Given the description of an element on the screen output the (x, y) to click on. 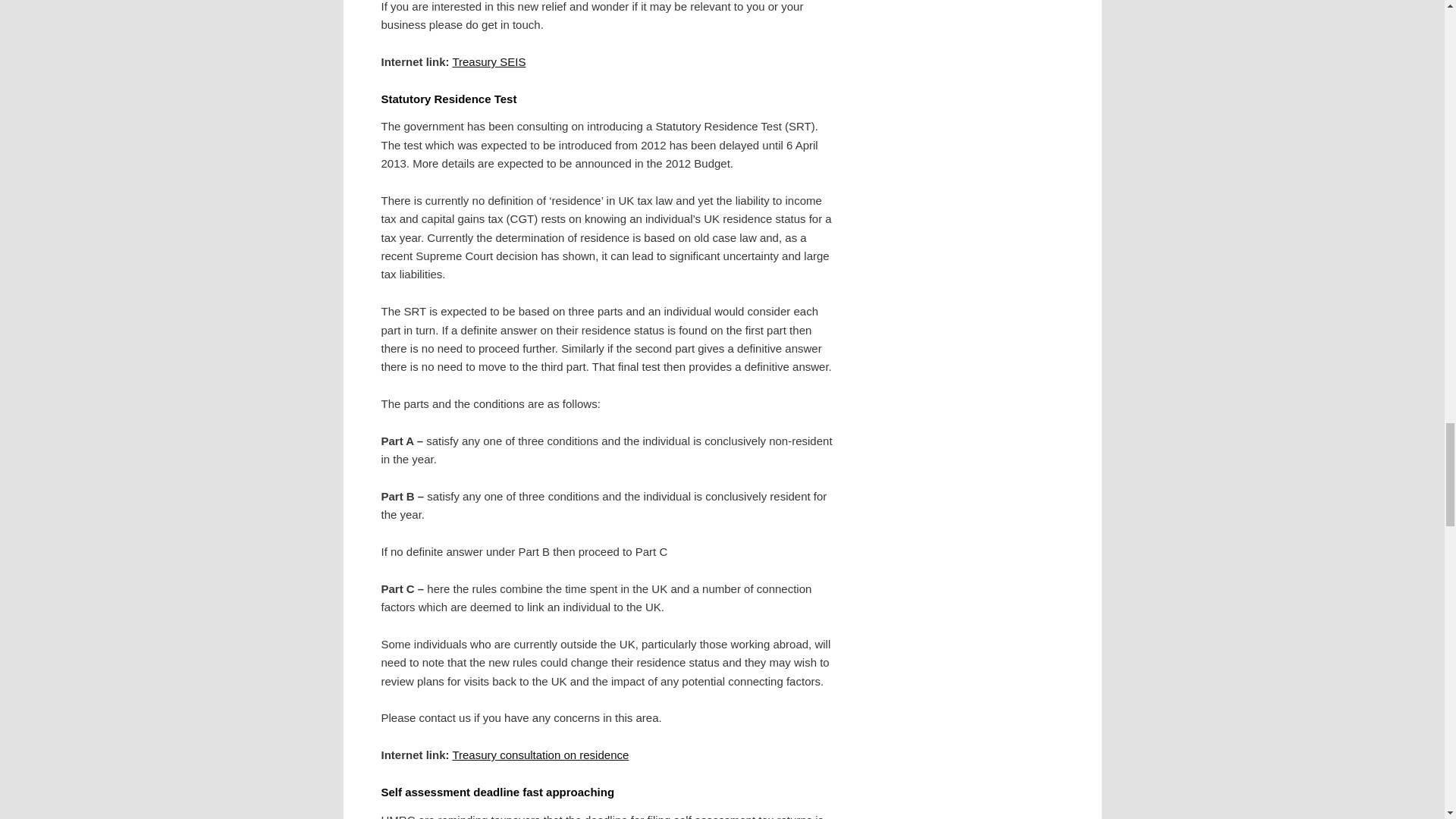
Treasury SEIS (488, 61)
Treasury consultation on residence (539, 754)
